Given the description of an element on the screen output the (x, y) to click on. 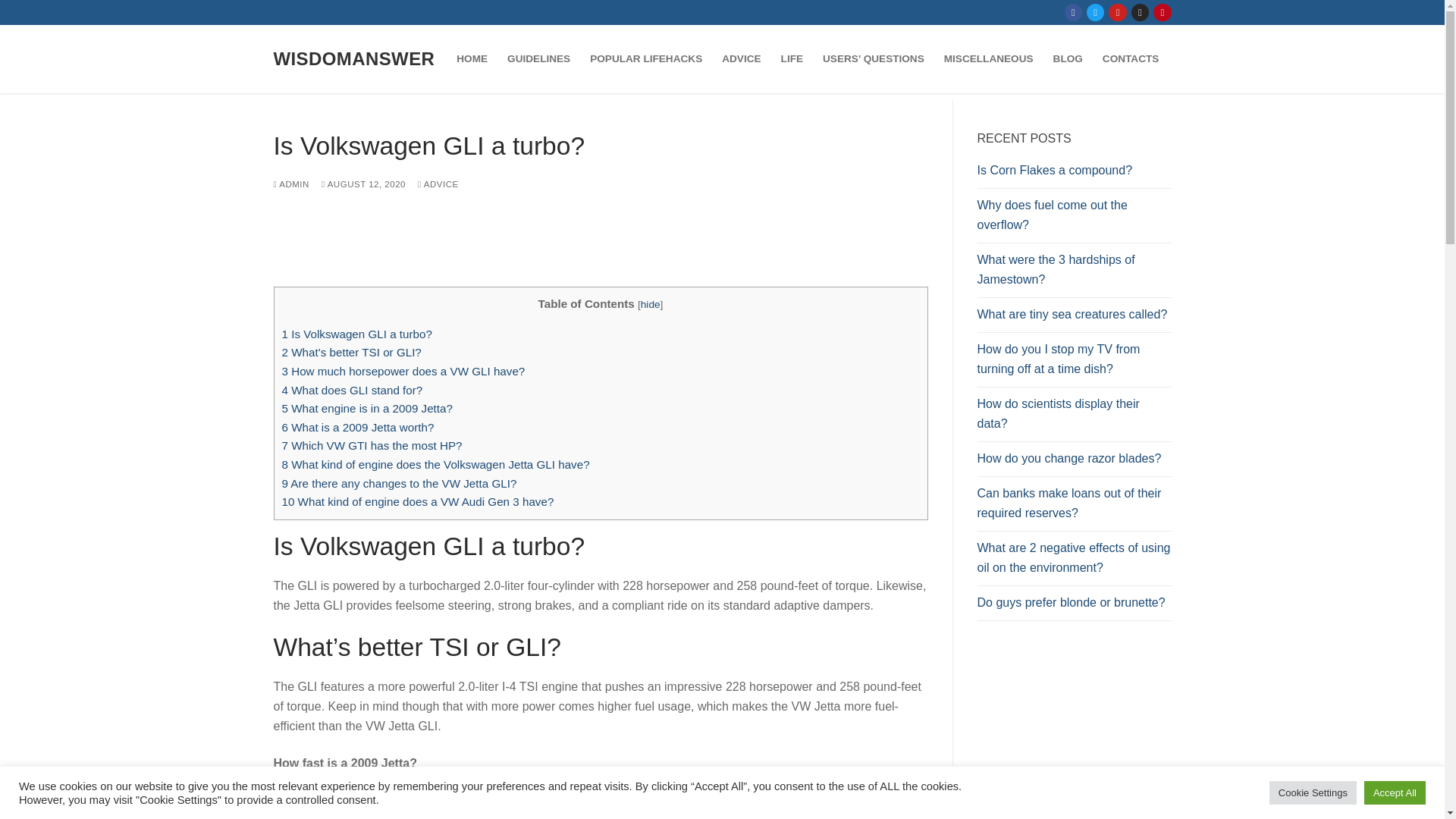
ADVICE (740, 59)
POPULAR LIFEHACKS (645, 59)
AUGUST 12, 2020 (363, 184)
ADMIN (290, 184)
4 What does GLI stand for? (352, 390)
3 How much horsepower does a VW GLI have? (403, 370)
Pinterest (1162, 12)
Facebook (1073, 12)
Youtube (1117, 12)
HOME (471, 59)
